Given the description of an element on the screen output the (x, y) to click on. 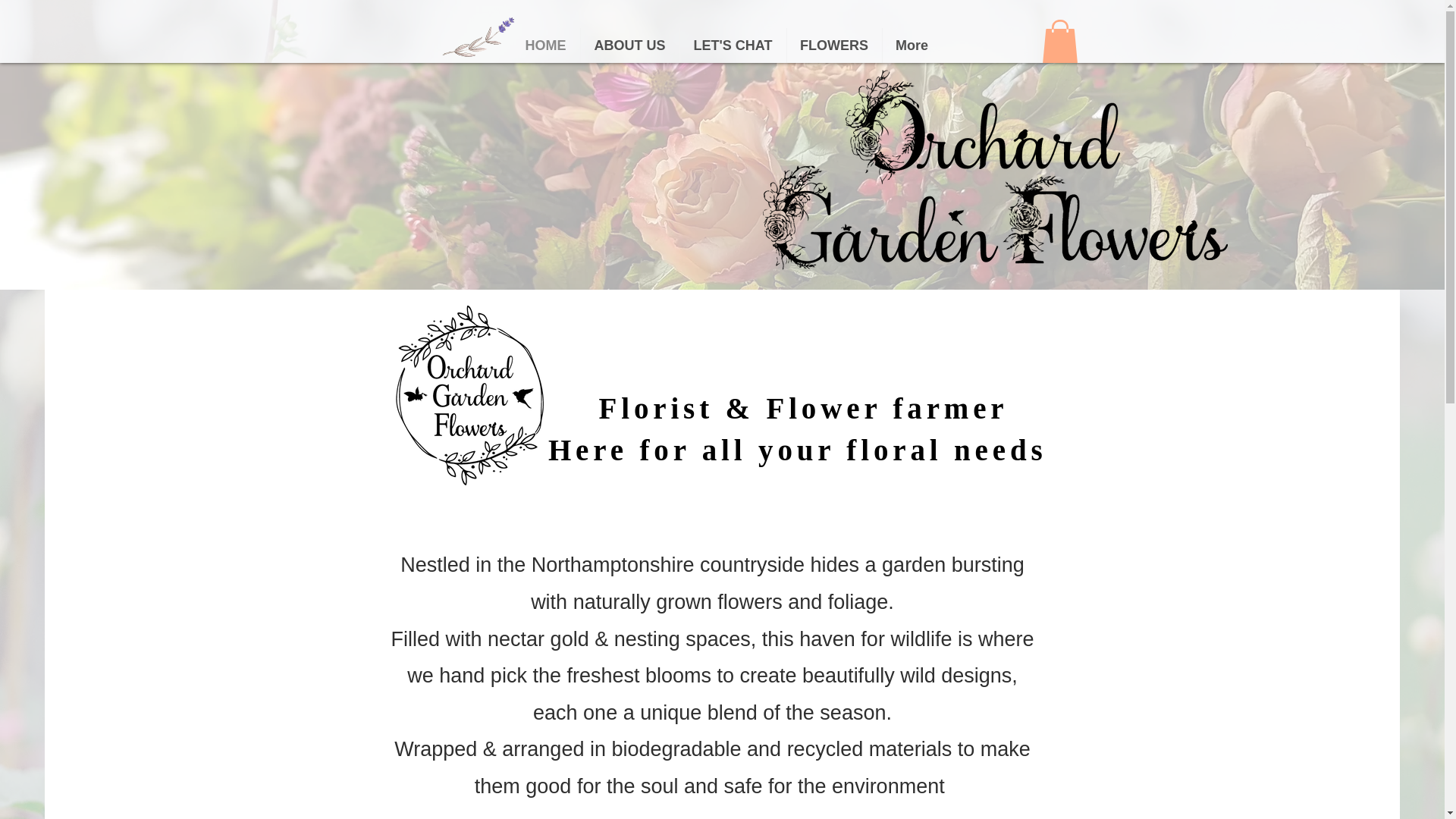
HOME (545, 45)
LET'S CHAT (732, 45)
FLOWERS (834, 45)
ABOUT US (629, 45)
